Given the description of an element on the screen output the (x, y) to click on. 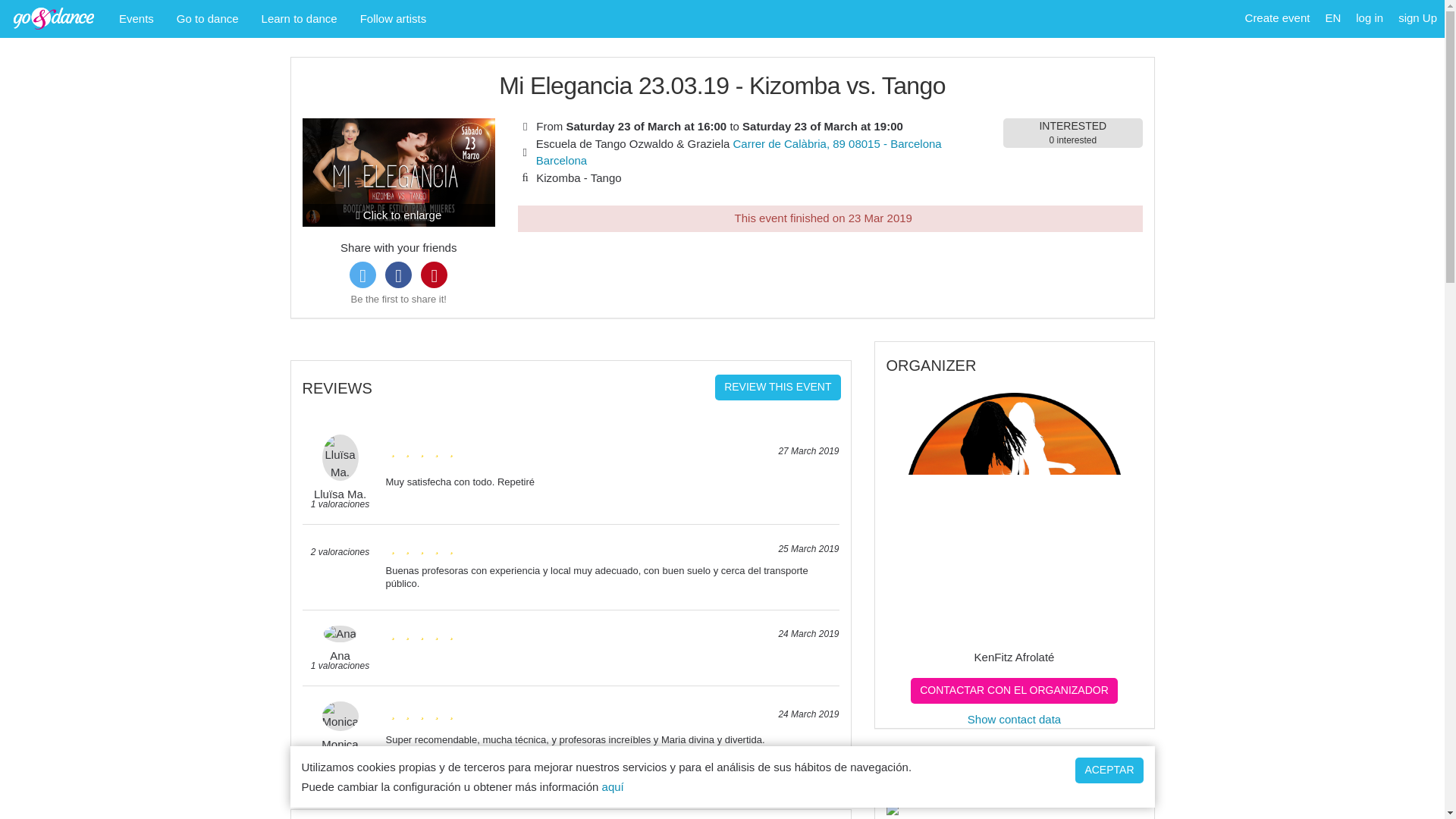
Click to enlarge (398, 171)
Learn to dance (299, 18)
CONTACTAR CON EL ORGANIZADOR (1014, 690)
Follow artists (393, 18)
Events (136, 18)
REVIEW THIS EVENT (777, 387)
Create event (1277, 18)
Show contact data (1014, 718)
Go to dance (207, 18)
